Given the description of an element on the screen output the (x, y) to click on. 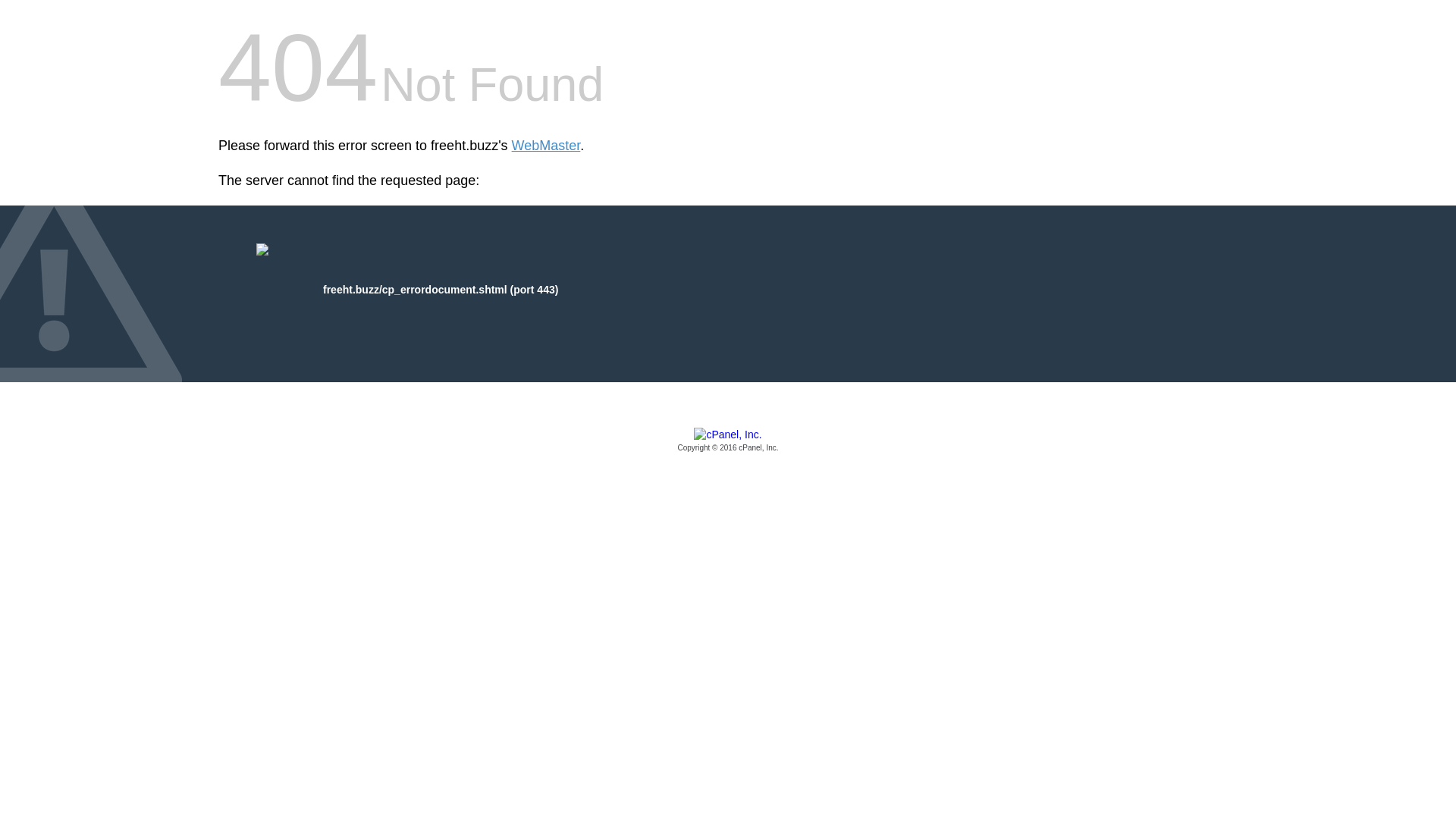
WebMaster (546, 145)
cPanel, Inc. (727, 440)
